Given the description of an element on the screen output the (x, y) to click on. 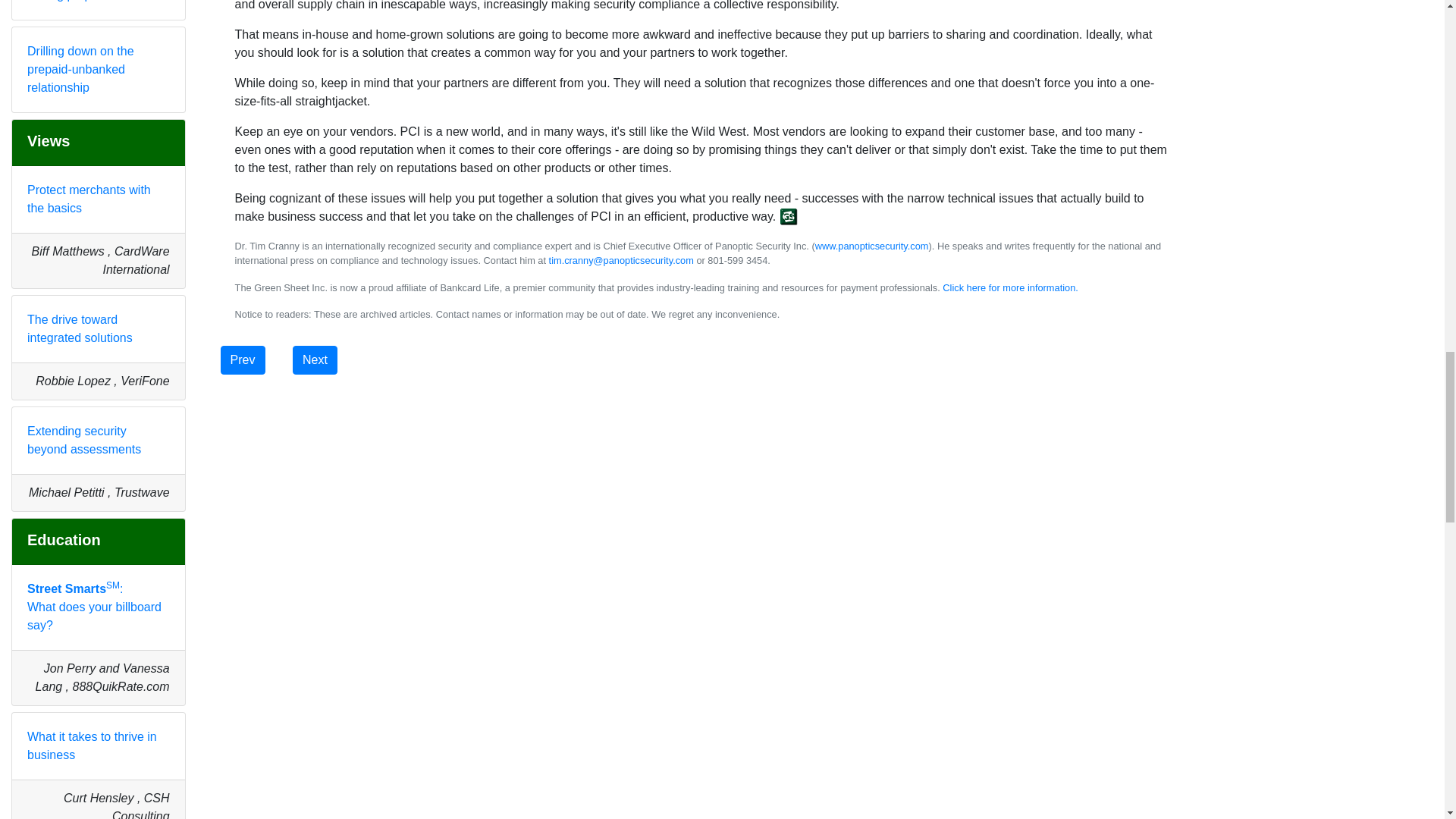
www.panopticsecurity.com (871, 245)
Click here for more information. (1010, 287)
Next (314, 359)
Prev (242, 359)
